Given the description of an element on the screen output the (x, y) to click on. 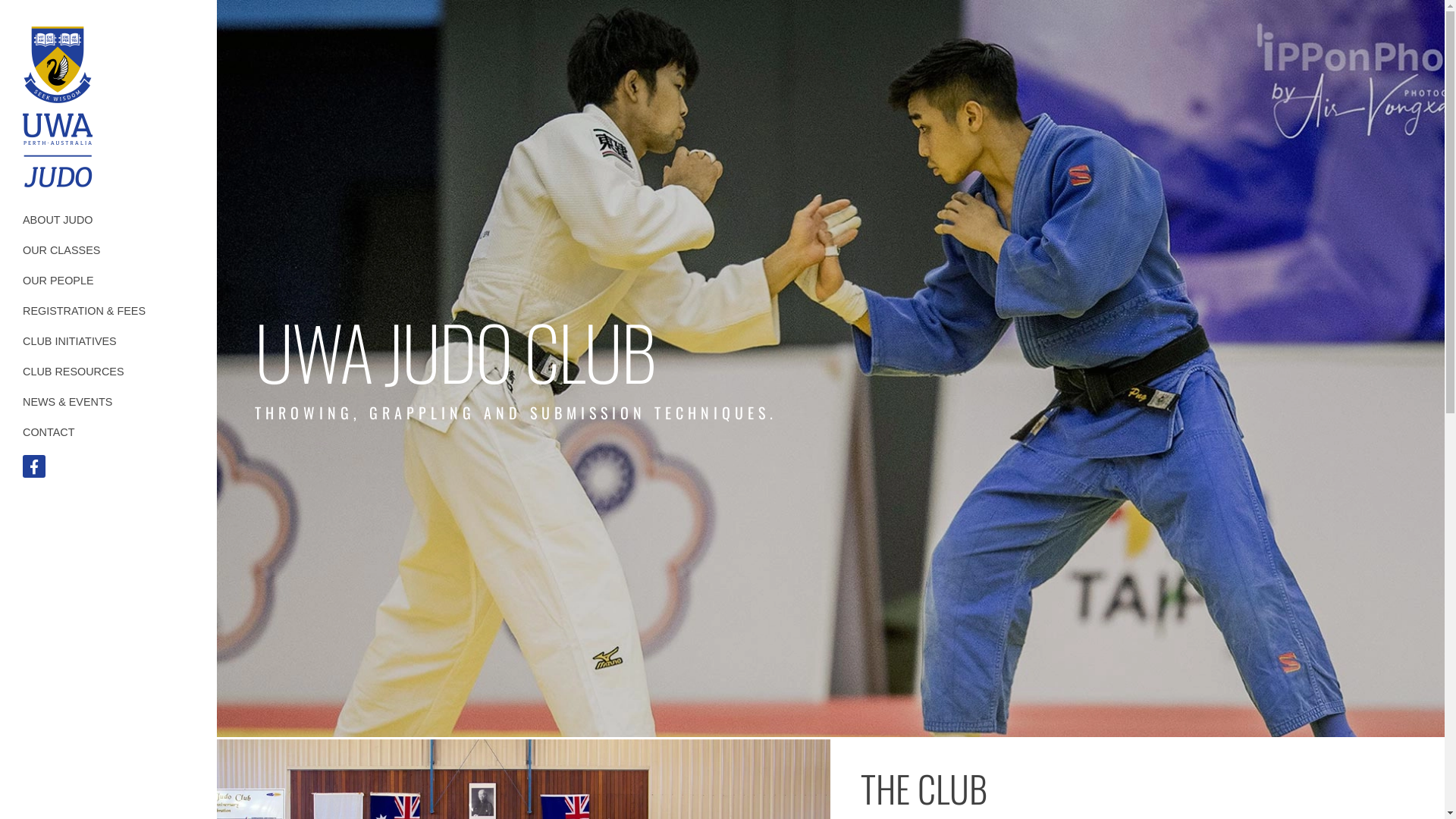
NEWS & EVENTS Element type: text (108, 401)
CONTACT Element type: text (108, 432)
UWA Judo stock image Element type: hover (57, 109)
REGISTRATION & FEES Element type: text (108, 310)
ABOUT JUDO Element type: text (108, 219)
CLUB RESOURCES Element type: text (108, 371)
OUR PEOPLE Element type: text (108, 280)
CLUB INITIATIVES Element type: text (108, 341)
OUR CLASSES Element type: text (108, 250)
